Given the description of an element on the screen output the (x, y) to click on. 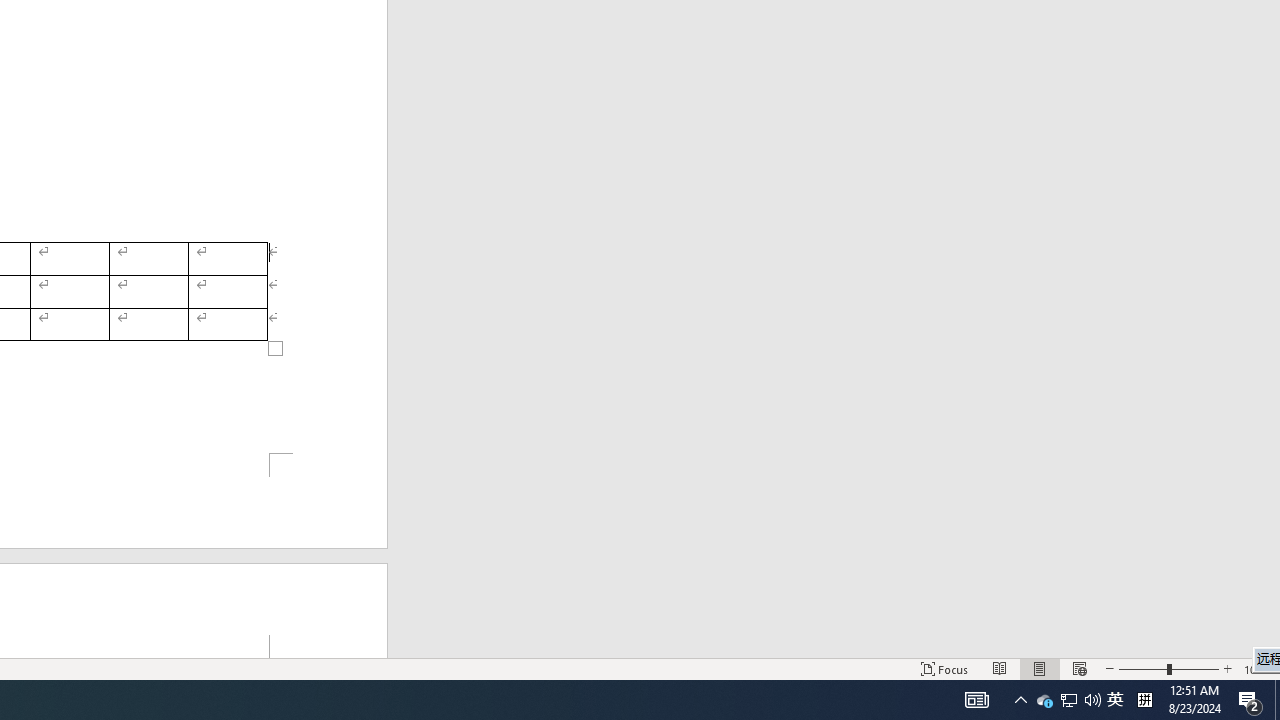
Notification Chevron (1020, 699)
User Promoted Notification Area (1068, 699)
Zoom 100% (1258, 668)
